Given the description of an element on the screen output the (x, y) to click on. 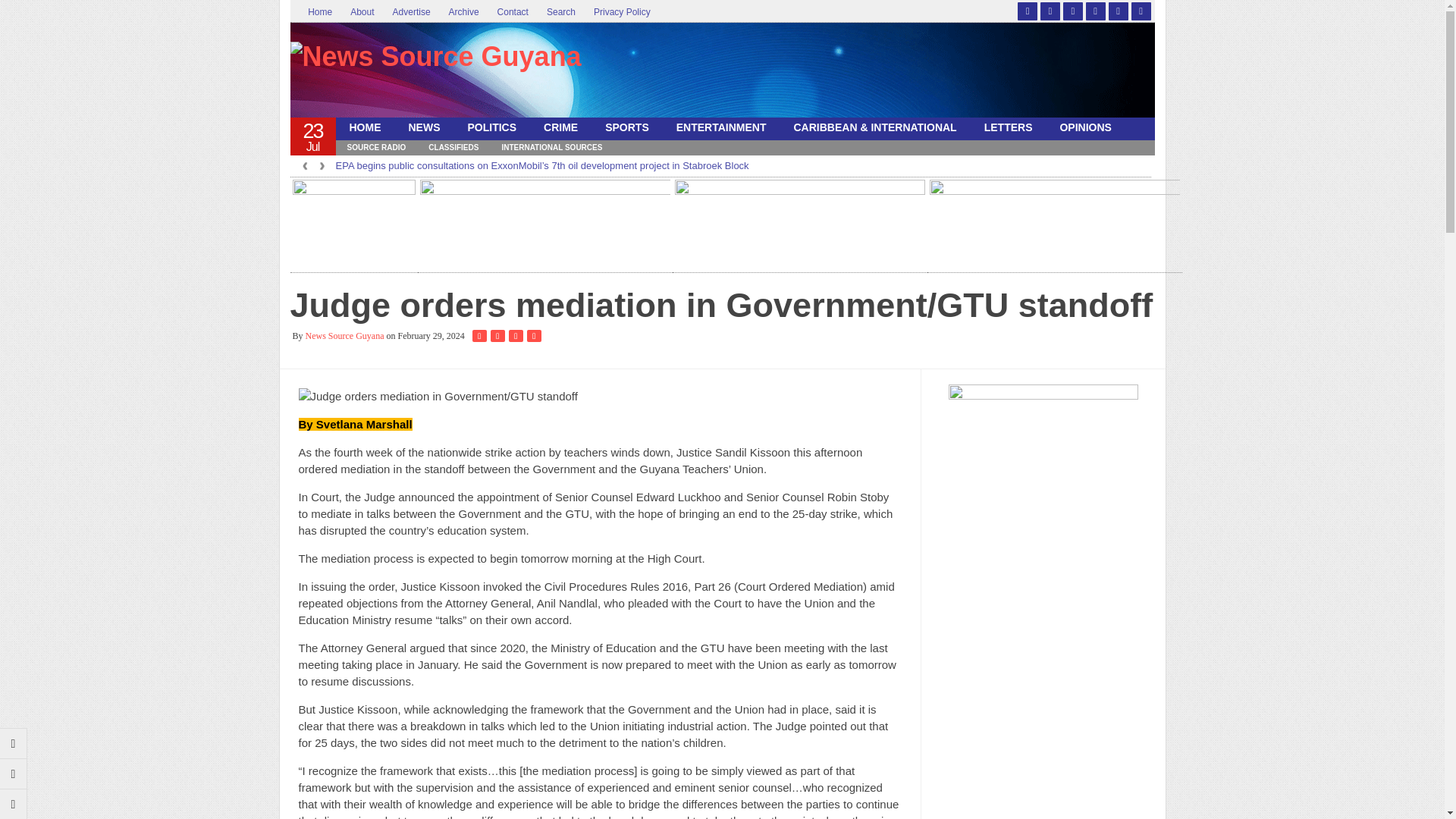
Go to homepage (13, 803)
News Source Guyana (435, 73)
NEWS (423, 127)
SPORTS (626, 127)
LETTERS (1008, 127)
ENTERTAINMENT (721, 127)
CLASSIFIEDS (452, 147)
INTERNATIONAL SOURCES (550, 147)
Archive (463, 12)
CRIME (560, 127)
OPINIONS (1084, 127)
Privacy Policy (622, 12)
Advertise (411, 12)
